Given the description of an element on the screen output the (x, y) to click on. 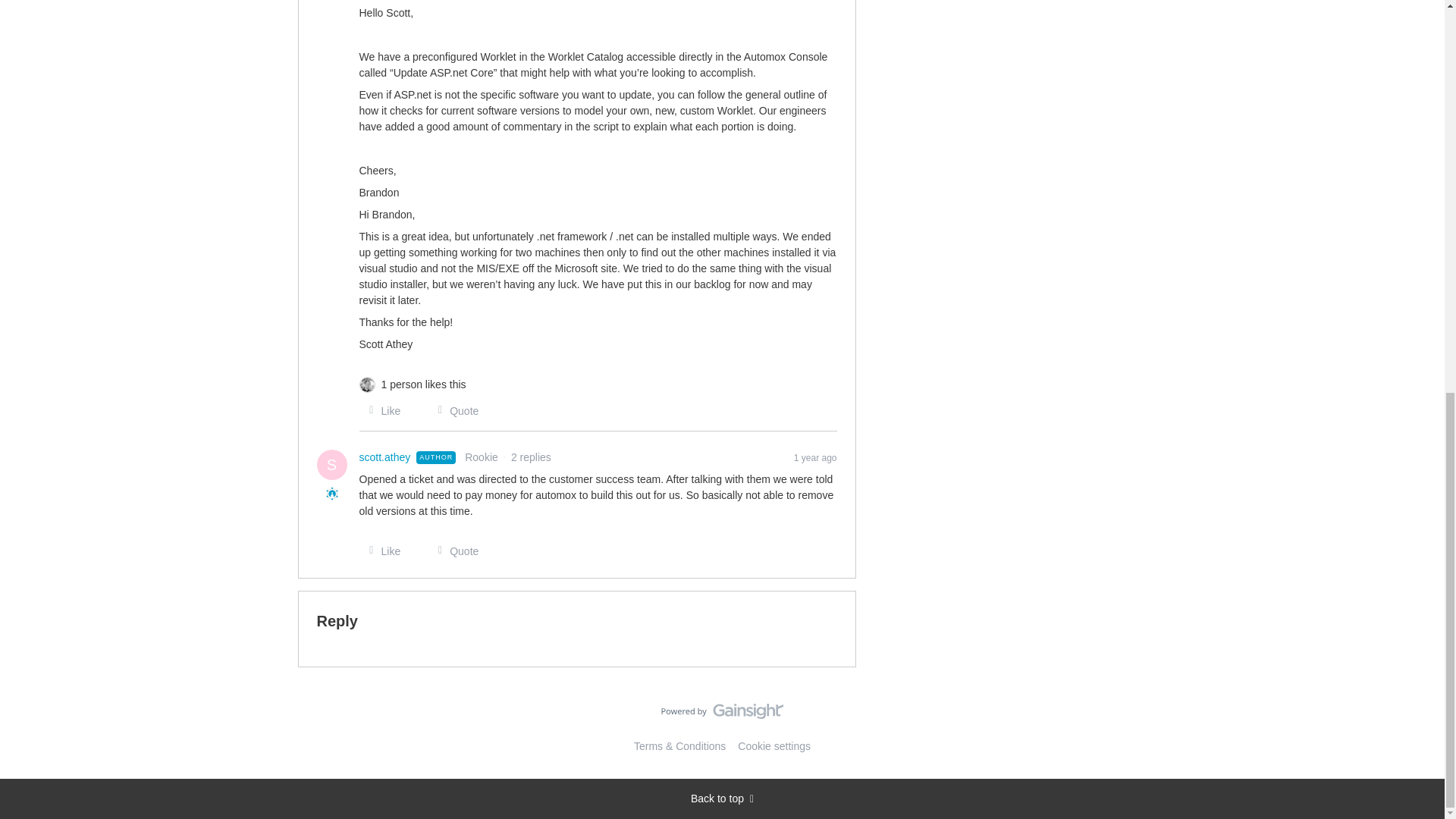
Quote (453, 410)
S (332, 464)
Visit Gainsight.com (722, 714)
scott.athey (384, 457)
scott.athey (384, 457)
Like (380, 550)
1 year ago (815, 457)
Conversation Starter (331, 493)
Cookie settings (774, 746)
Back to top (722, 798)
Like (380, 410)
Quote (453, 550)
